Given the description of an element on the screen output the (x, y) to click on. 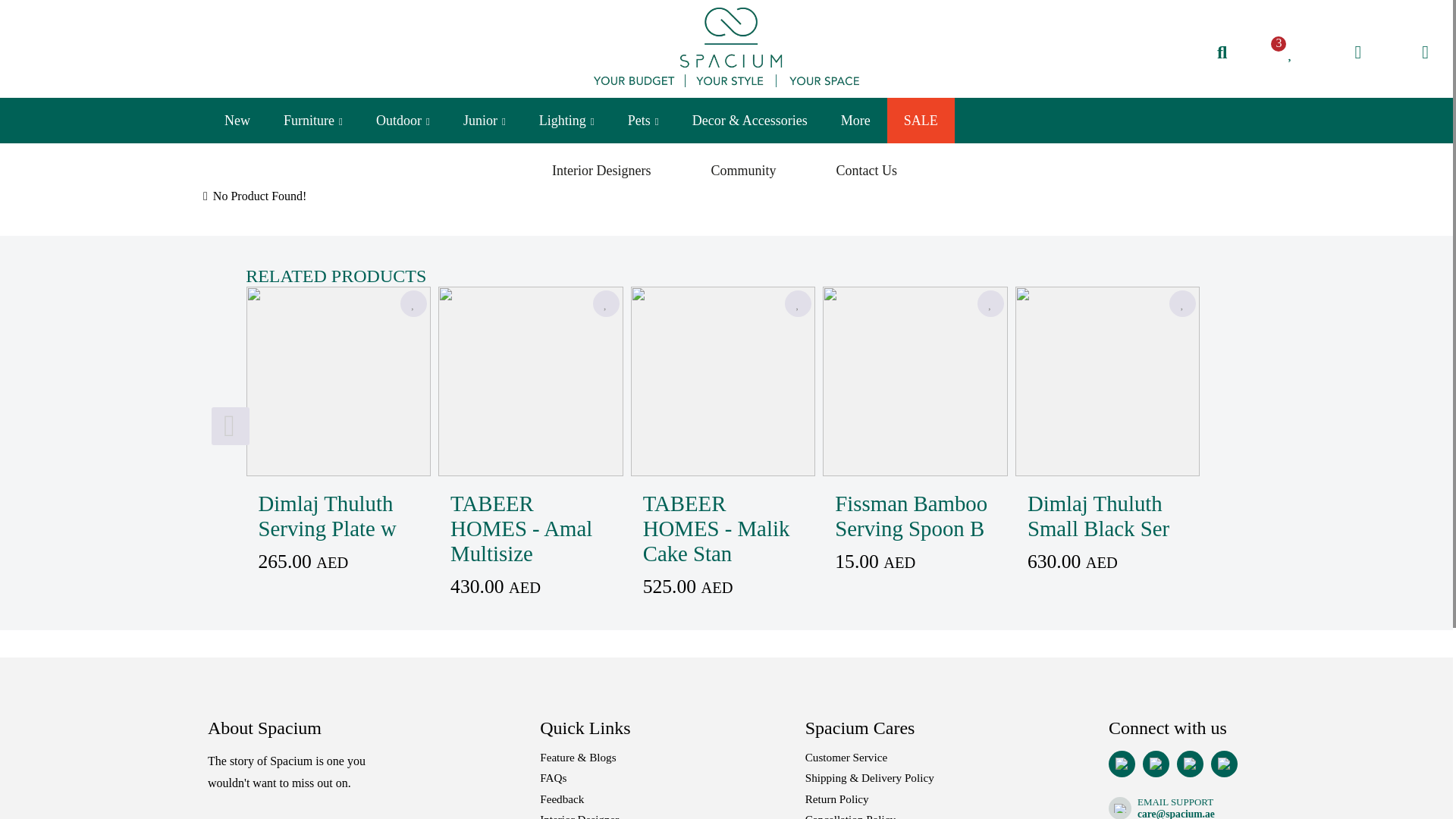
New (236, 120)
3 (1290, 52)
Furniture (312, 120)
